Given the description of an element on the screen output the (x, y) to click on. 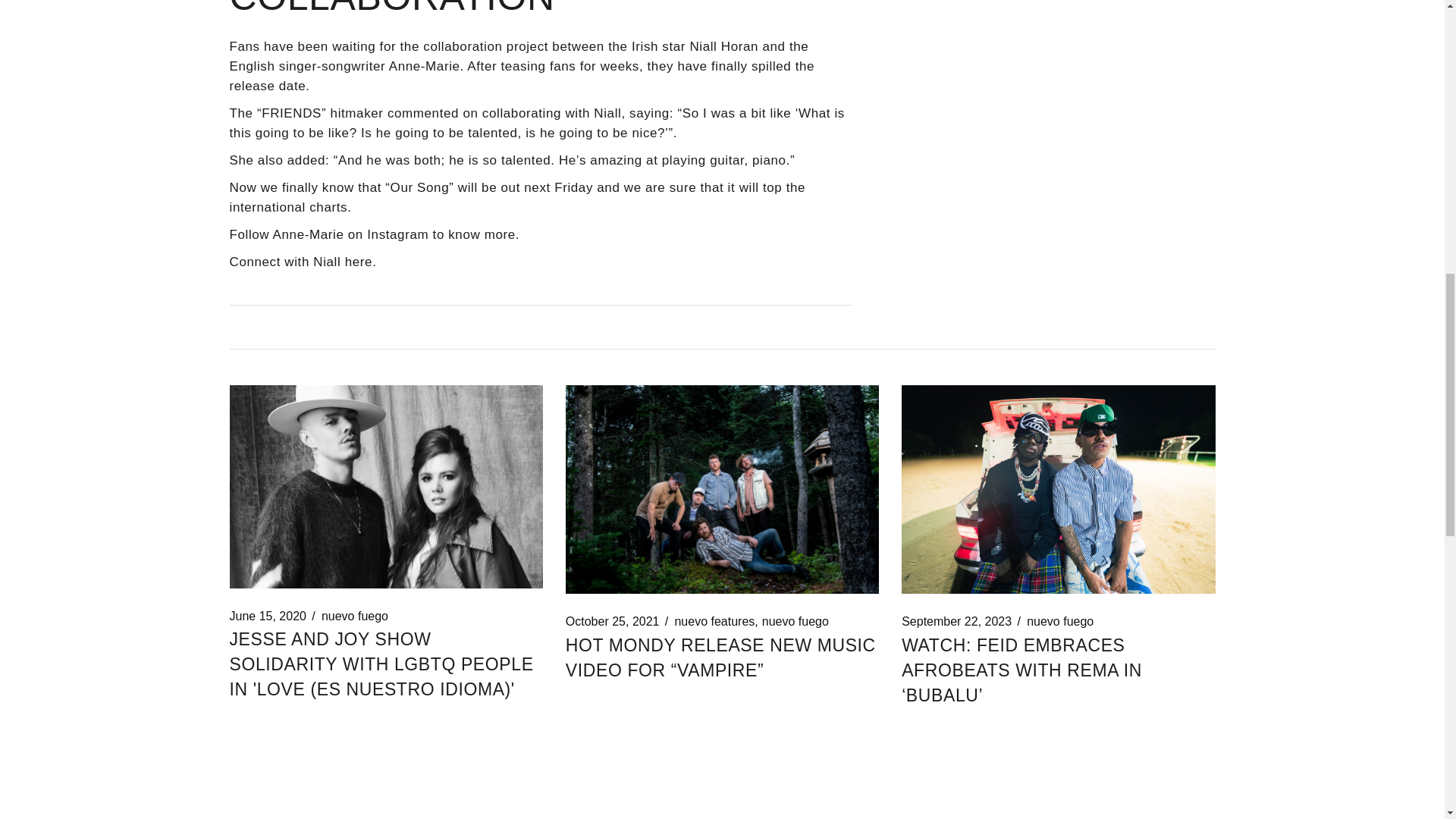
October 25, 2021 (612, 621)
June 15, 2020 (266, 616)
September 22, 2023 (956, 621)
nuevo fuego (1059, 621)
nuevo fuego (794, 621)
nuevo features (714, 621)
here (358, 261)
nuevo fuego (354, 616)
Instagram (397, 234)
